Given the description of an element on the screen output the (x, y) to click on. 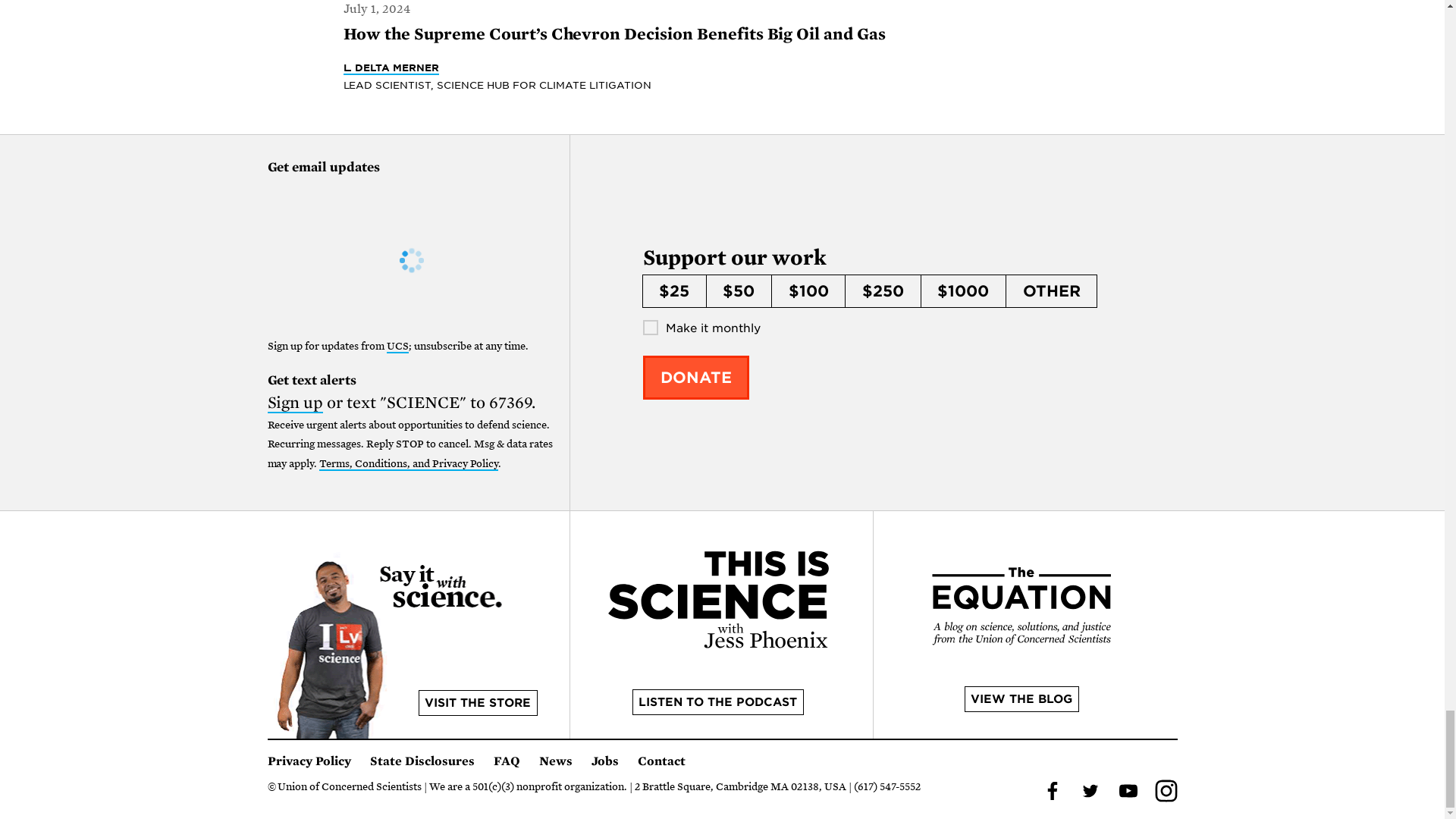
Donate Online (696, 377)
